Given the description of an element on the screen output the (x, y) to click on. 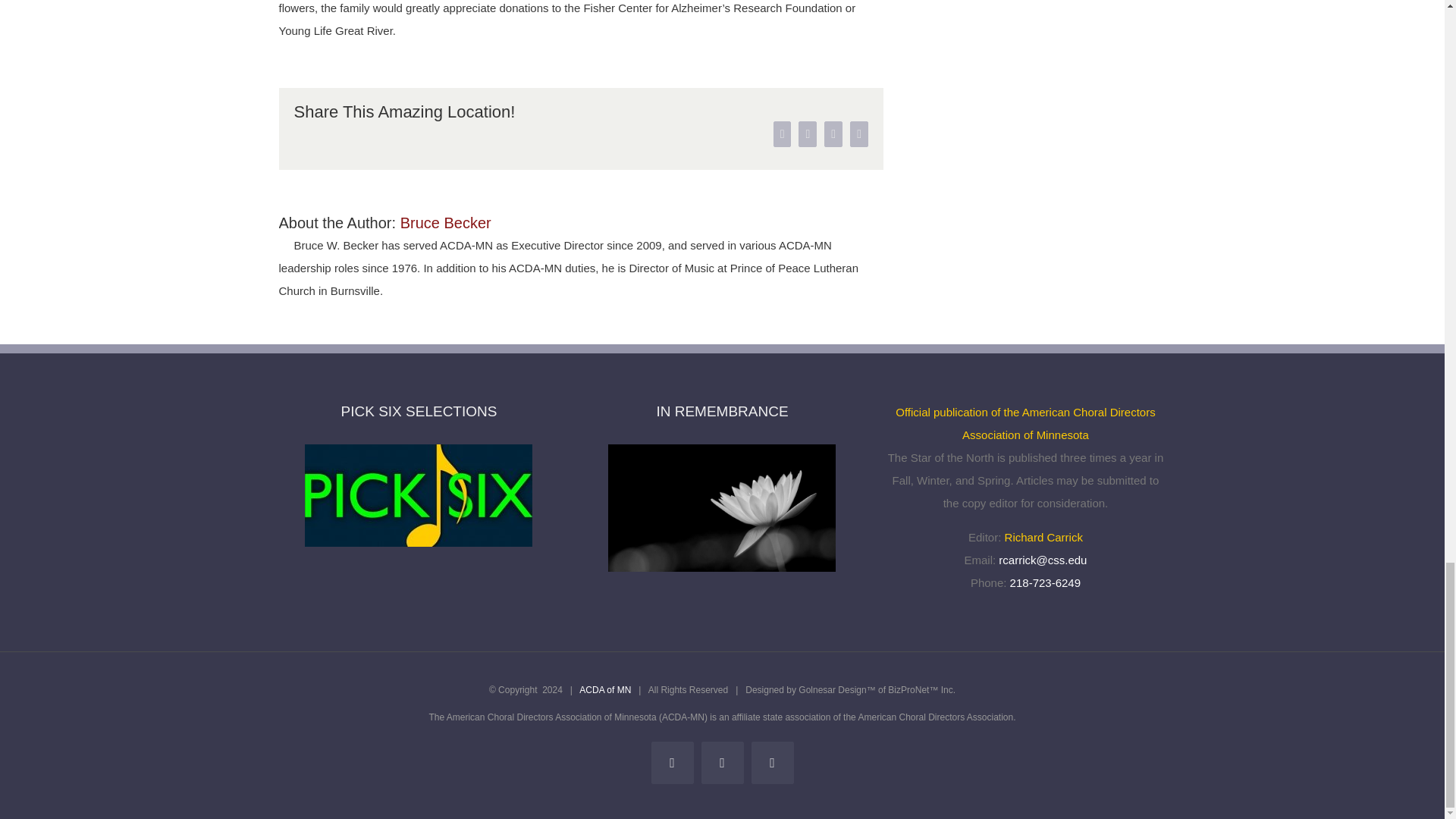
WhatsApp (833, 134)
Bruce Becker (446, 222)
YouTube (772, 762)
Posts by Bruce Becker (446, 222)
WhatsApp (833, 134)
Facebook (671, 762)
X (806, 134)
Pinterest (858, 134)
X (806, 134)
Pinterest (858, 134)
X (721, 762)
Facebook (782, 134)
Facebook (782, 134)
